Given the description of an element on the screen output the (x, y) to click on. 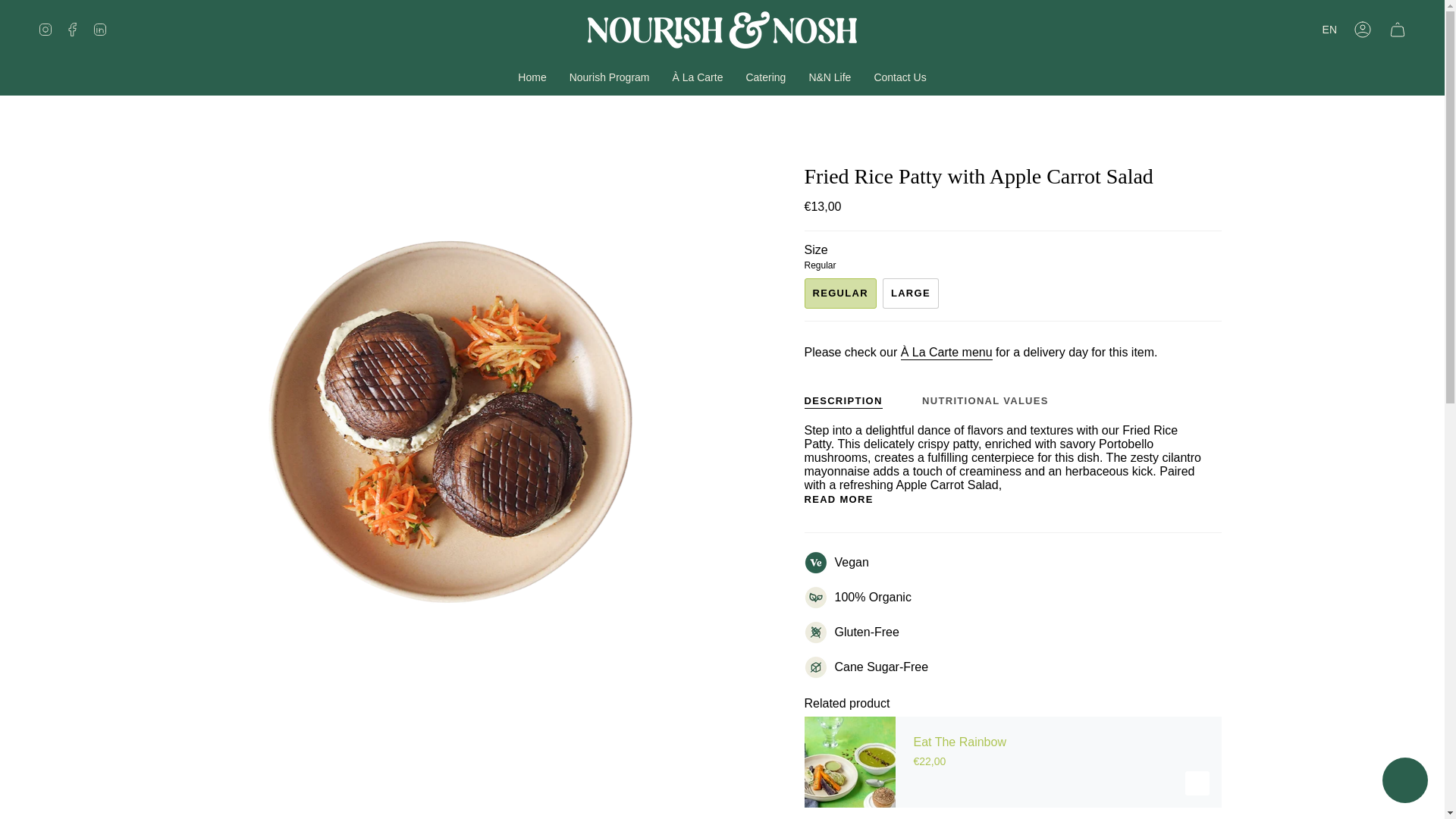
Catering (764, 77)
Shopify online store chat (1404, 781)
Contact Us (899, 77)
Nourish Program (609, 77)
Home (531, 77)
